Given the description of an element on the screen output the (x, y) to click on. 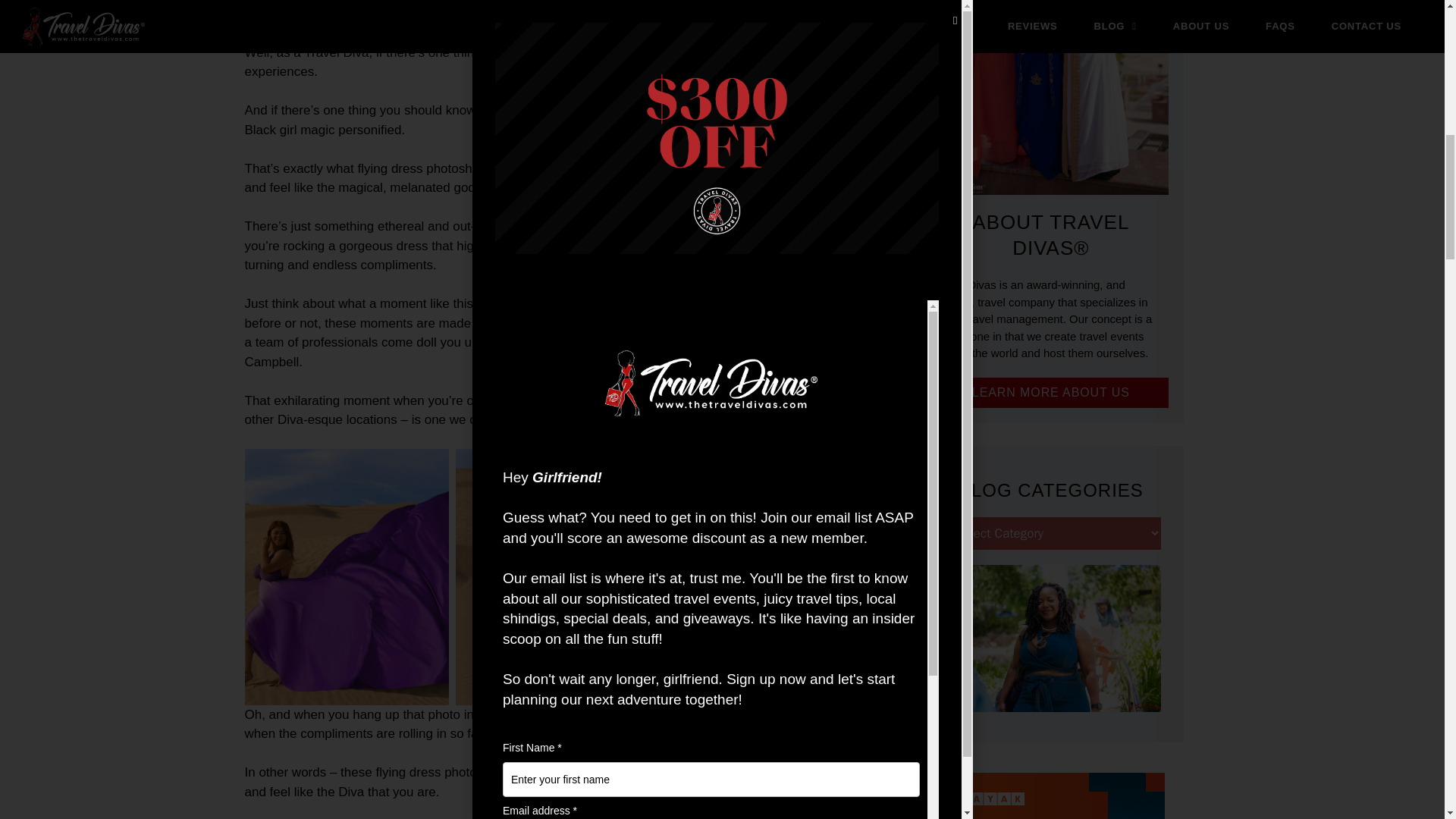
Scroll back to top (1405, 718)
